Given the description of an element on the screen output the (x, y) to click on. 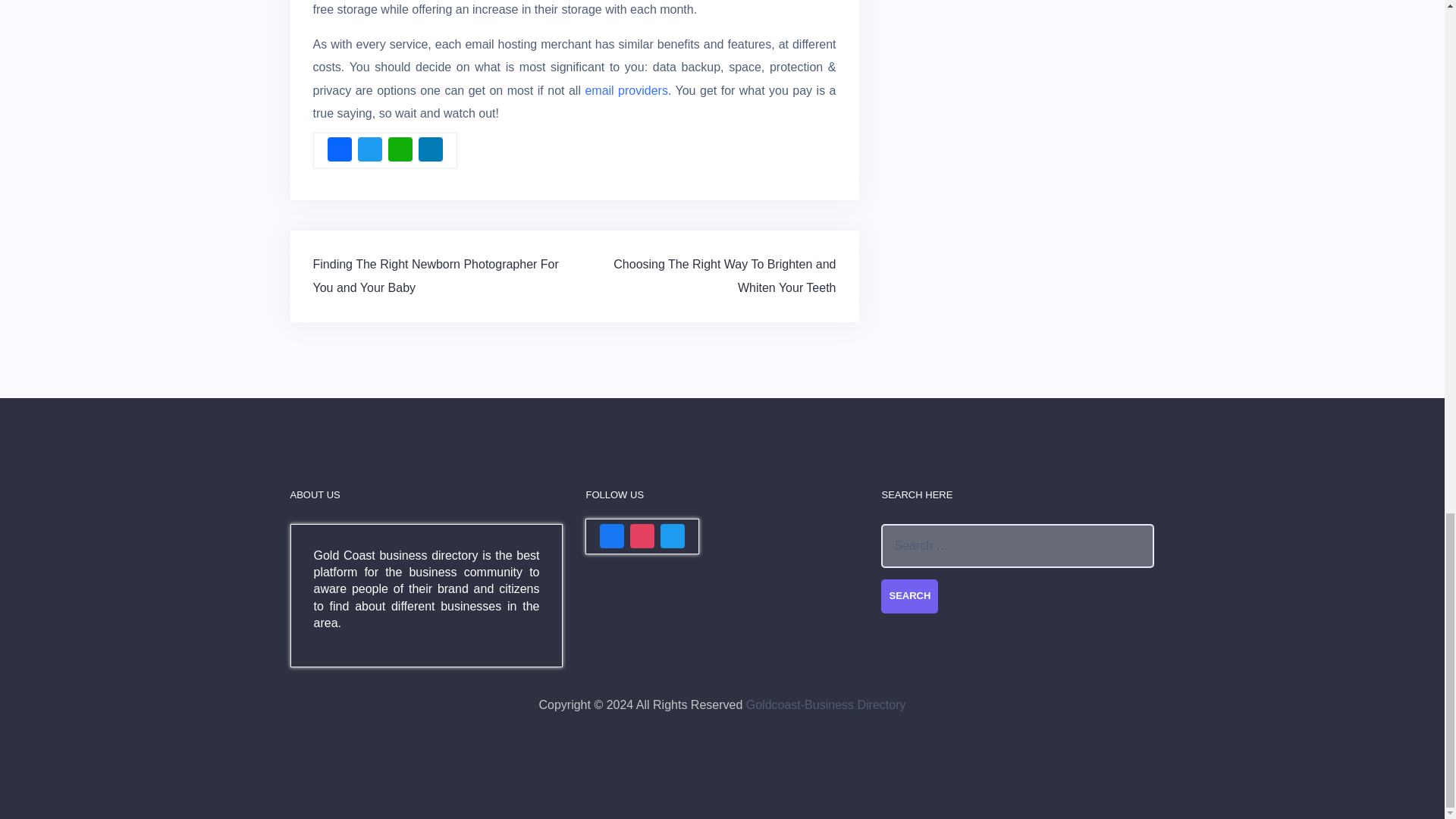
Twitter (672, 538)
WhatsApp (399, 151)
Instagram (642, 538)
Instagram (642, 538)
LinkedIn (429, 151)
Search (908, 596)
Twitter (370, 151)
Twitter (672, 538)
Facebook (339, 151)
Search (908, 596)
email providers (626, 90)
Finding The Right Newborn Photographer For You and Your Baby (435, 275)
LinkedIn (429, 151)
Choosing The Right Way To Brighten and Whiten Your Teeth (723, 275)
Search (908, 596)
